Given the description of an element on the screen output the (x, y) to click on. 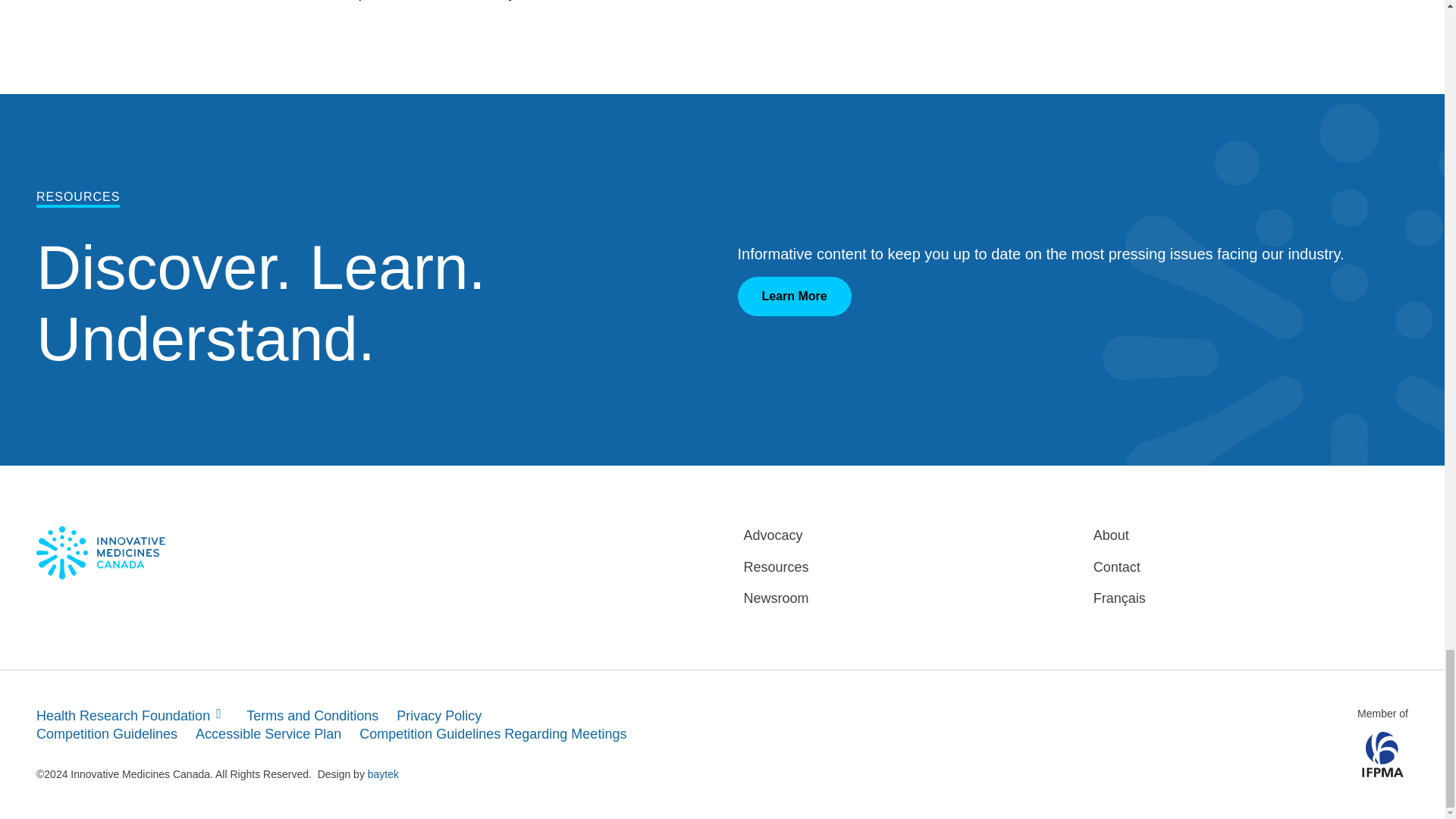
Ottawa Web Design and Branding (383, 774)
